Given the description of an element on the screen output the (x, y) to click on. 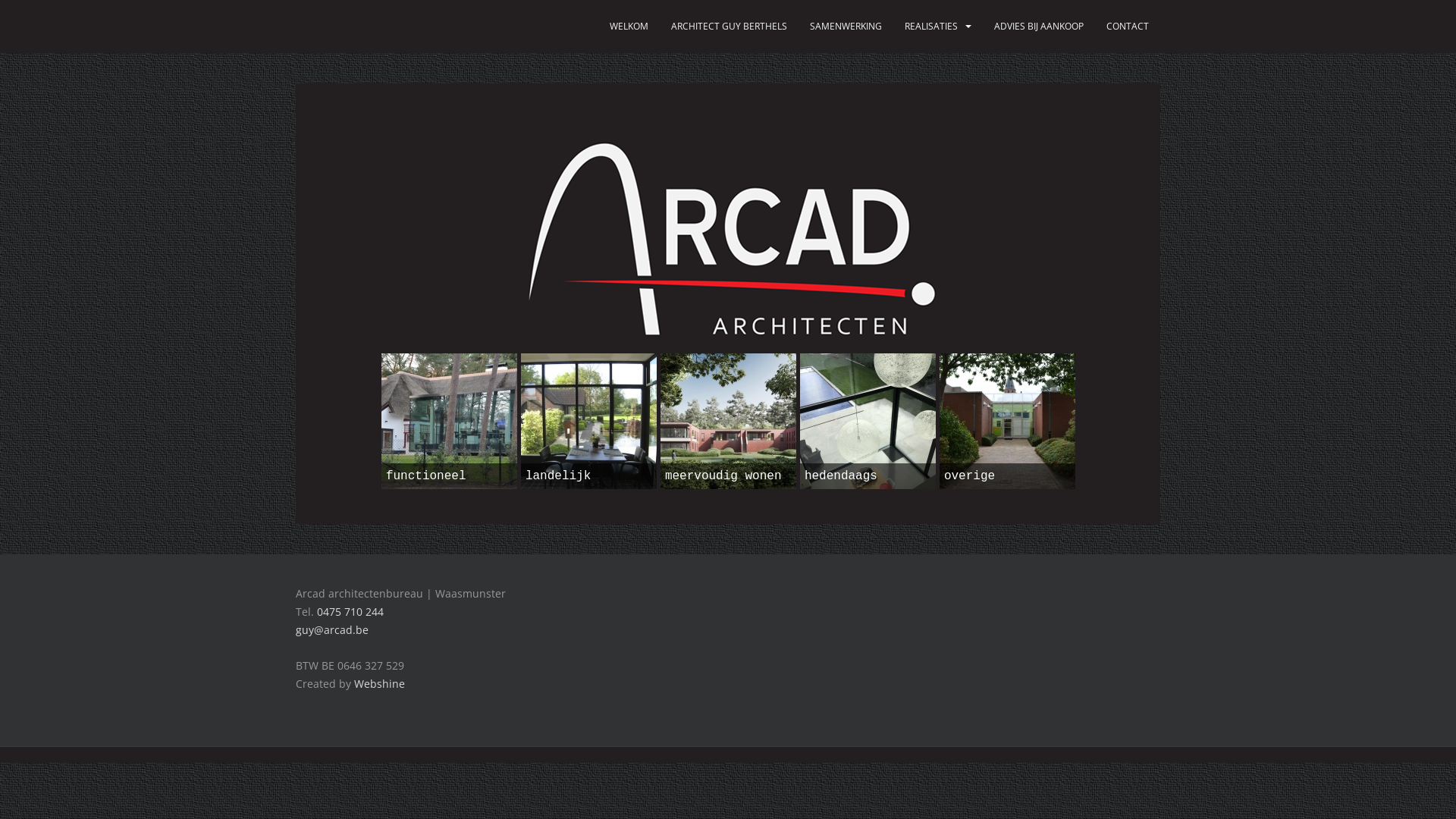
ADVIES BIJ AANKOOP Element type: text (1038, 26)
guy@arcad.be Element type: text (331, 629)
CONTACT Element type: text (1127, 26)
WELKOM Element type: text (628, 26)
Webshine Element type: text (379, 683)
0475 710 244 Element type: text (349, 611)
ARCHITECT GUY BERTHELS Element type: text (729, 26)
SAMENWERKING Element type: text (845, 26)
REALISATIES Element type: text (930, 26)
